Given the description of an element on the screen output the (x, y) to click on. 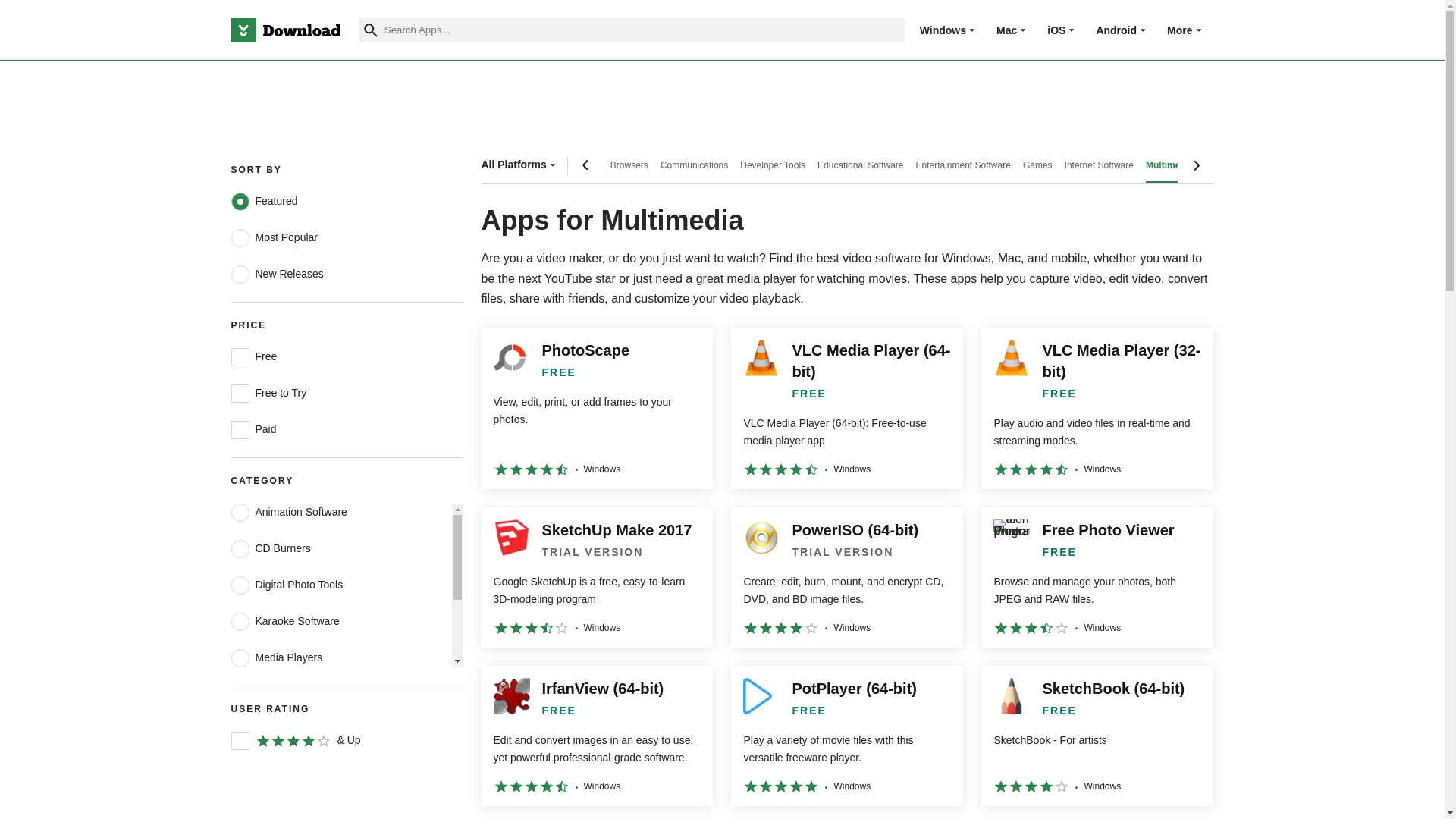
video-players (239, 767)
free (239, 357)
audio-cd-dvd-burner (239, 548)
audio-media-players (239, 658)
SketchUp Make 2017 (596, 576)
PhotoScape (596, 407)
4up (239, 741)
mostPopular (239, 238)
Free Photo Viewer (1096, 576)
paid (239, 429)
digitalphoto-tools (239, 585)
streaming-audio-software (239, 730)
featured (239, 201)
design-animation (239, 512)
audio-karaoke (239, 621)
